Given the description of an element on the screen output the (x, y) to click on. 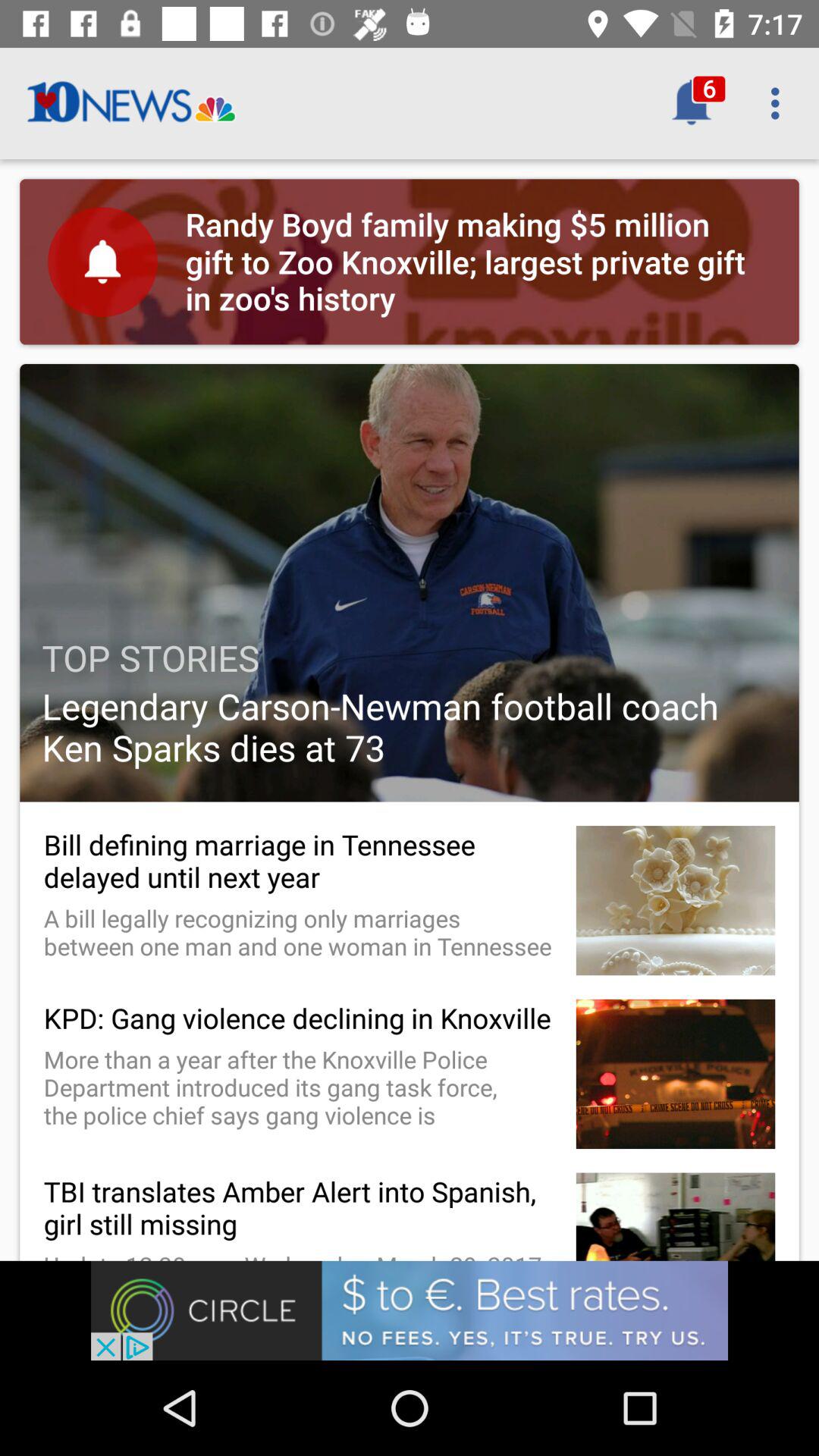
advertisement page (409, 1310)
